Given the description of an element on the screen output the (x, y) to click on. 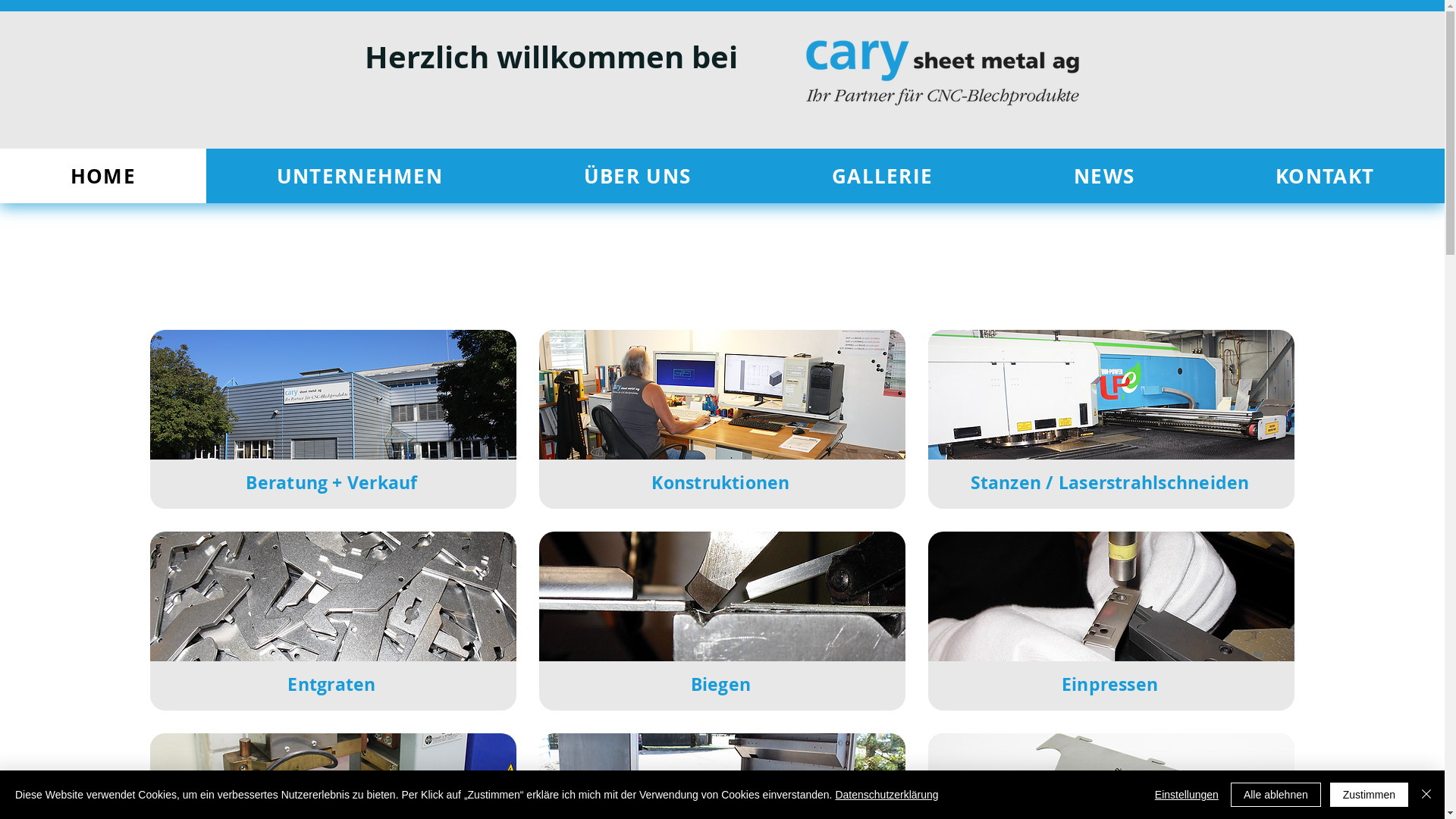
Beratung+ Verkauf Element type: hover (334, 392)
Beratung + Verkauf Element type: text (331, 482)
Zustimmen Element type: text (1369, 794)
Einpressen Element type: text (1109, 683)
Stanzen / Laserstrahlschneiden Element type: text (1109, 482)
Entgraten Element type: text (331, 683)
Einpressen Element type: hover (1112, 594)
Entgraten Element type: hover (334, 594)
KONTAKT Element type: text (1324, 175)
Konstruktionen Element type: text (720, 482)
HOME Element type: text (103, 175)
Stanzen / Laserstrahlschneiden Element type: hover (1112, 392)
Alle ablehnen Element type: text (1275, 794)
Biegen Element type: hover (723, 594)
GALLERIE Element type: text (882, 175)
Biegen Element type: text (720, 683)
Cary Sheet Metal AG Element type: hover (941, 72)
UNTERNEHMEN Element type: text (359, 175)
Konstruktionen Element type: hover (723, 392)
NEWS Element type: text (1103, 175)
